Given the description of an element on the screen output the (x, y) to click on. 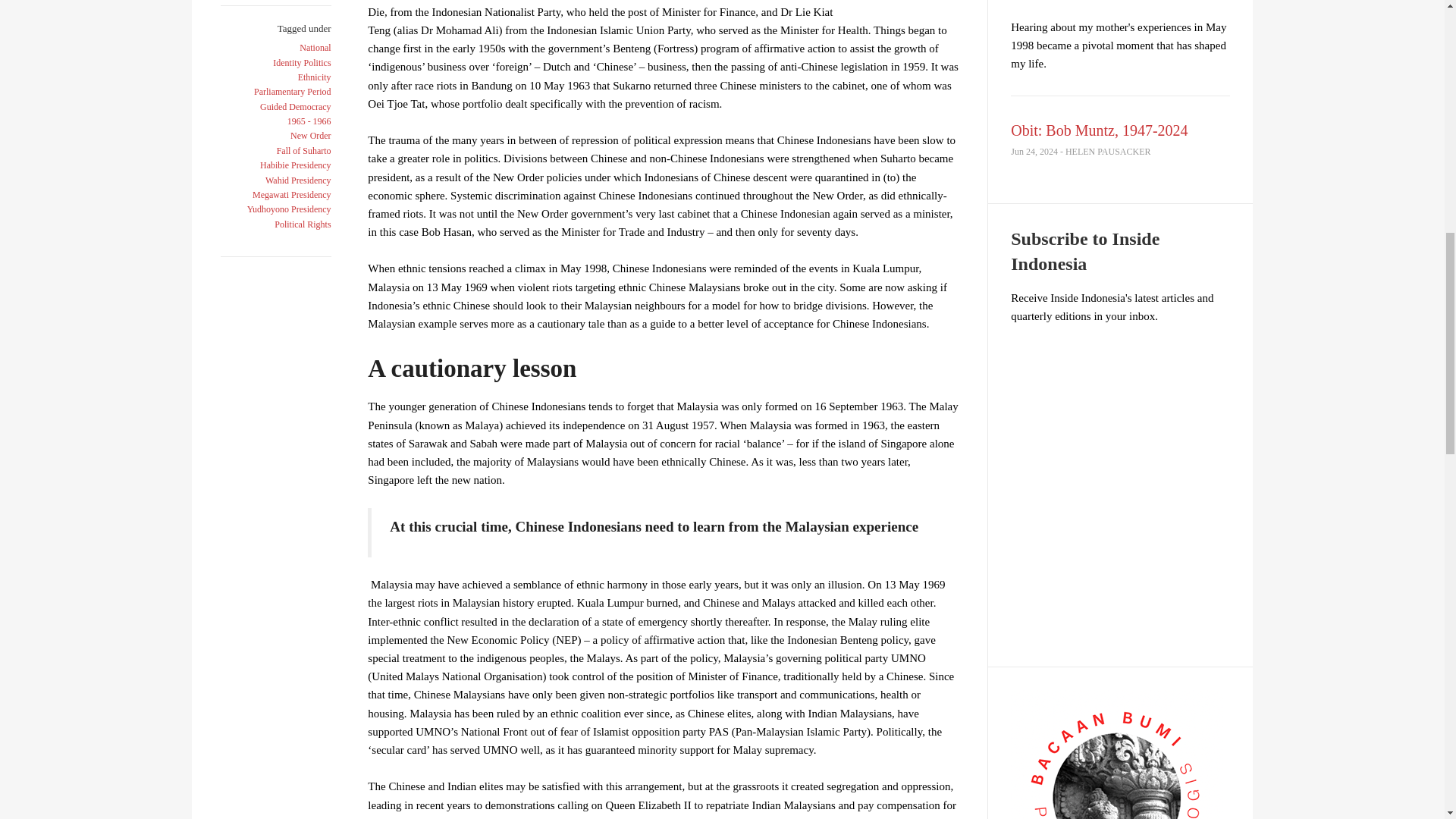
Obit: Bob Muntz, 1947-2024 (1099, 130)
